Given the description of an element on the screen output the (x, y) to click on. 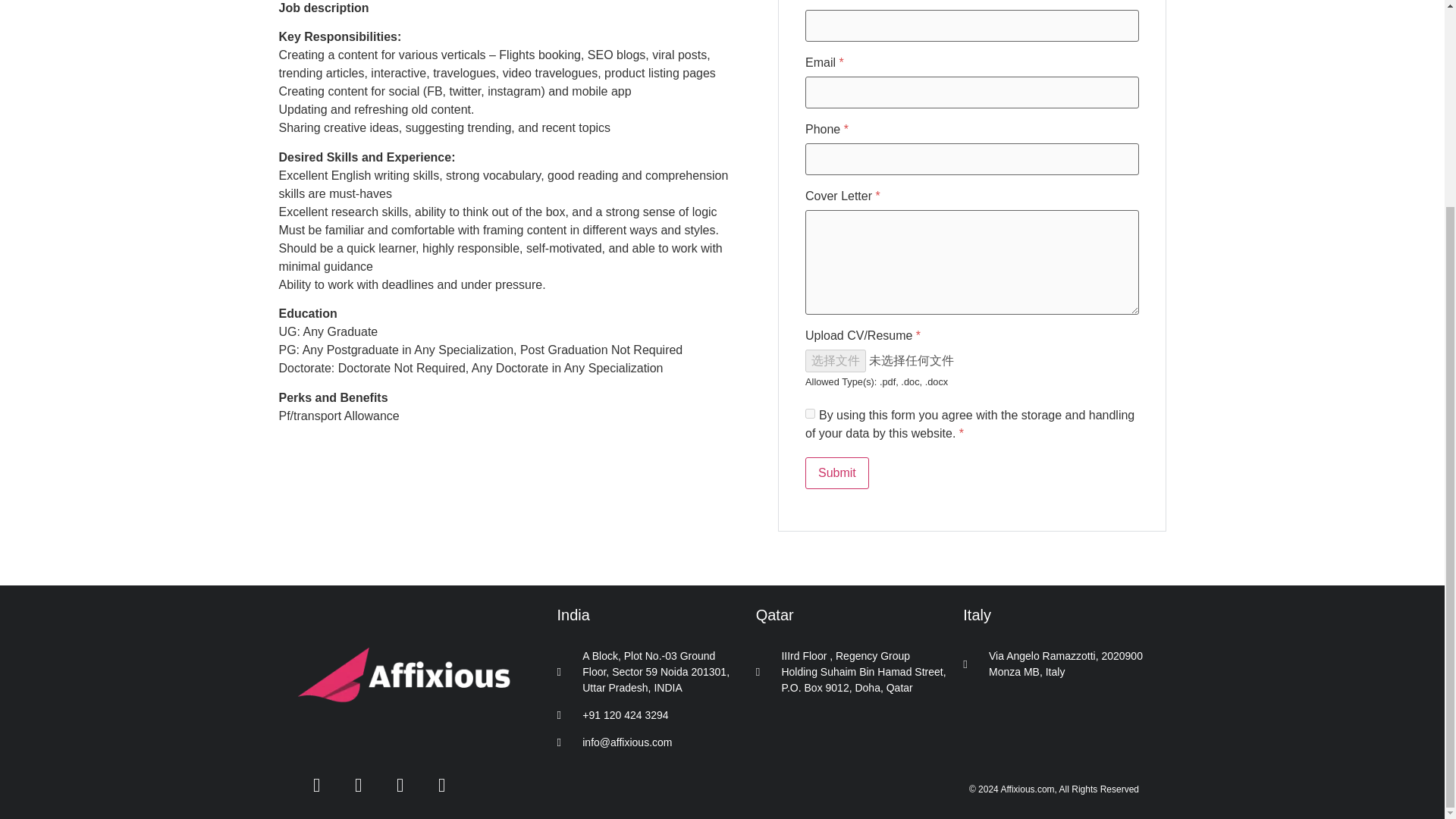
yes (810, 413)
Submit (837, 472)
Submit (837, 472)
